Given the description of an element on the screen output the (x, y) to click on. 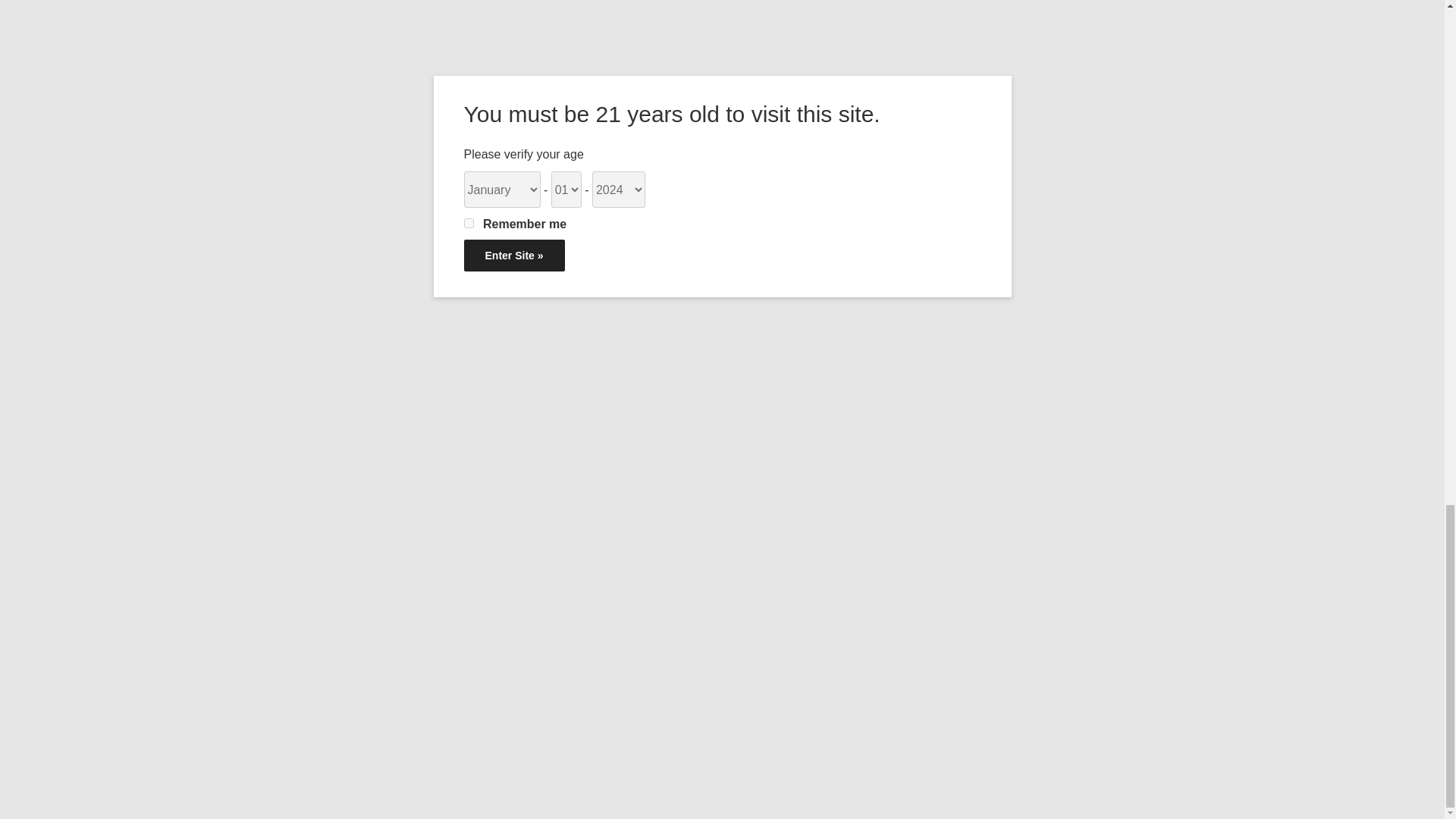
Post Comment (718, 85)
Proudly powered by WordPress (449, 784)
PRIVACY POLICY (418, 481)
TERMS OF USE (414, 514)
Learn how your comment data is processed (573, 137)
MY WORK (400, 416)
Post Comment (718, 85)
CONTACT (399, 449)
